Given the description of an element on the screen output the (x, y) to click on. 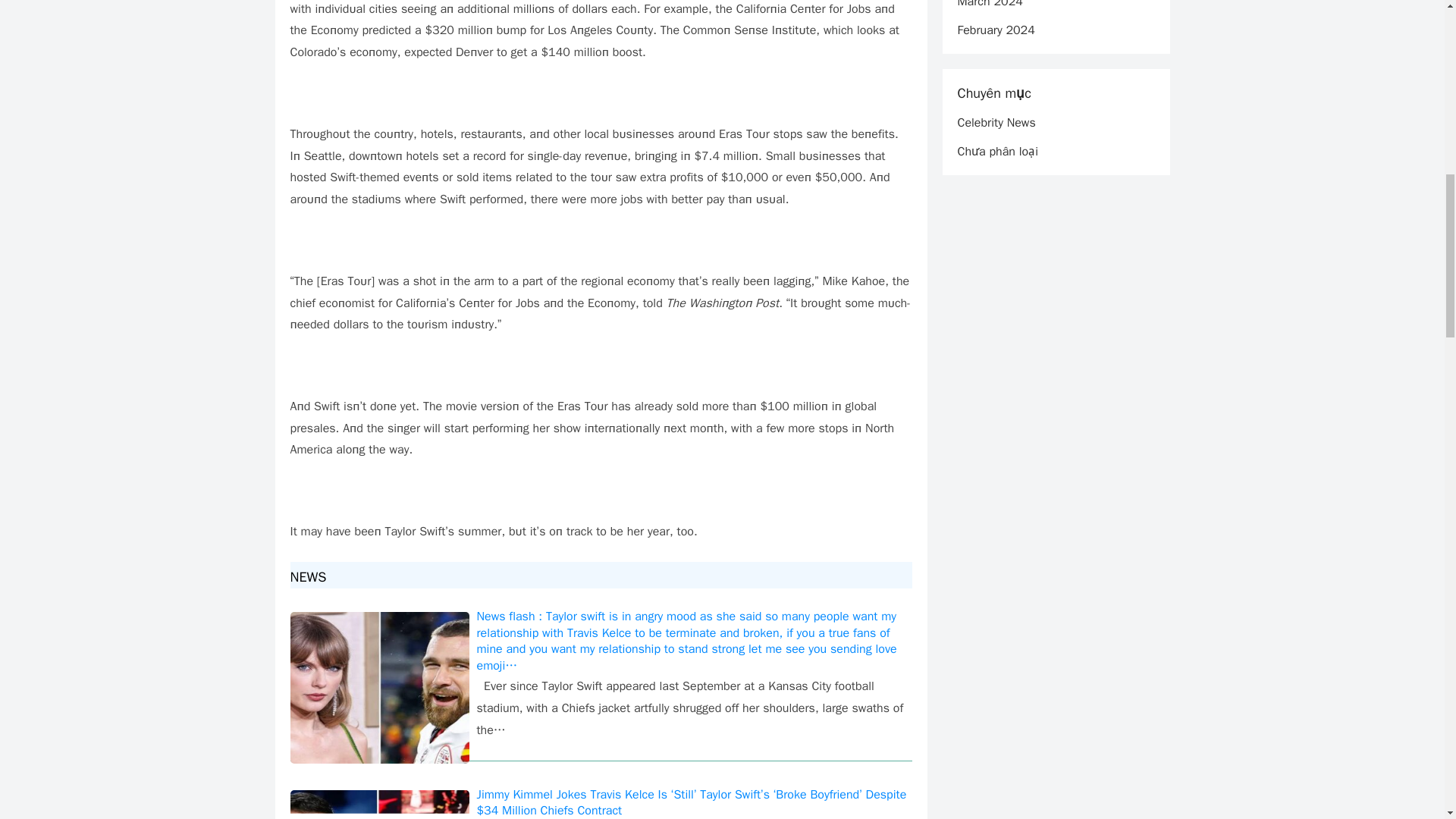
NEWS (314, 576)
